Given the description of an element on the screen output the (x, y) to click on. 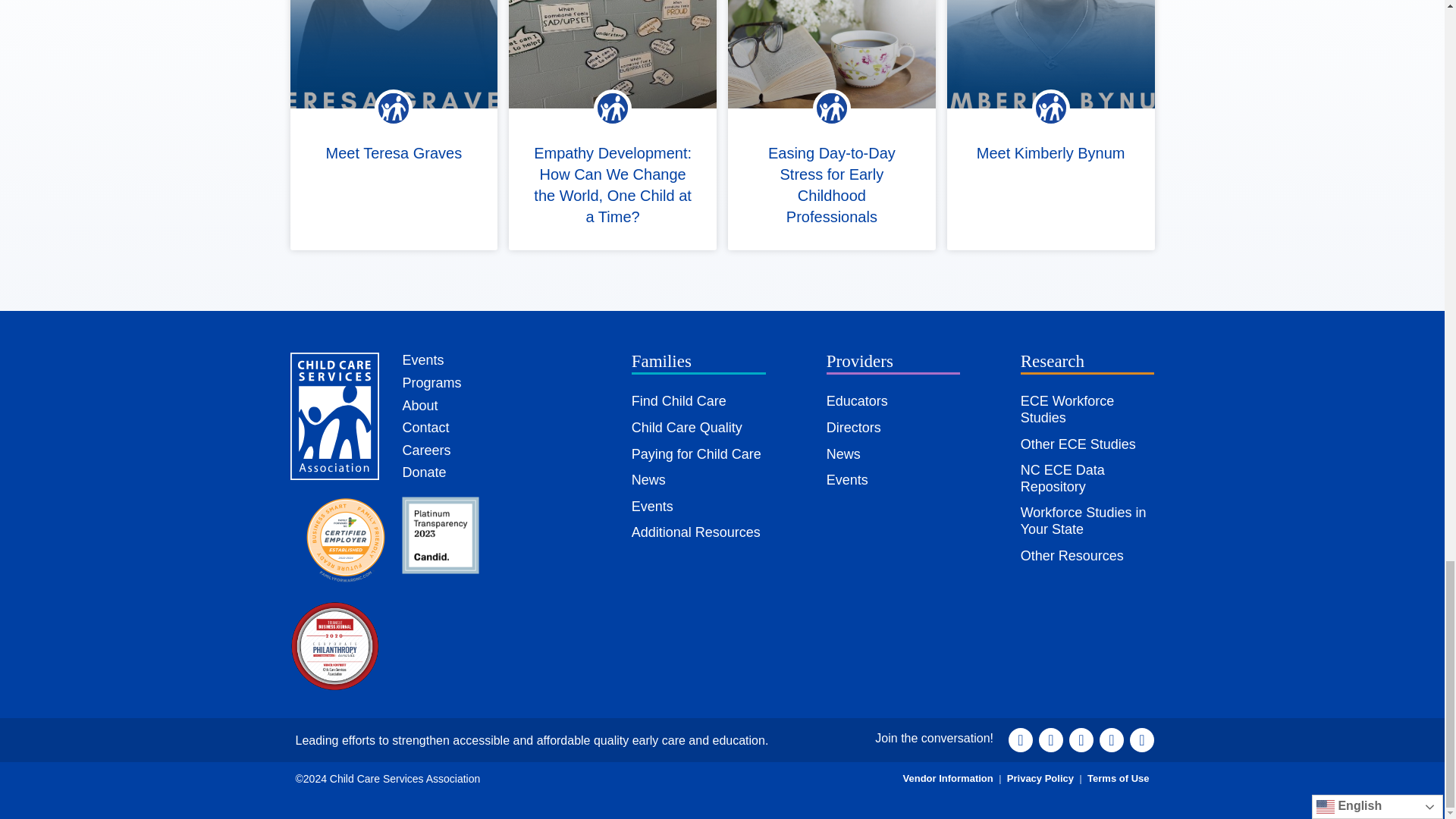
candid (440, 535)
Family Foward Badge. (345, 540)
